Given the description of an element on the screen output the (x, y) to click on. 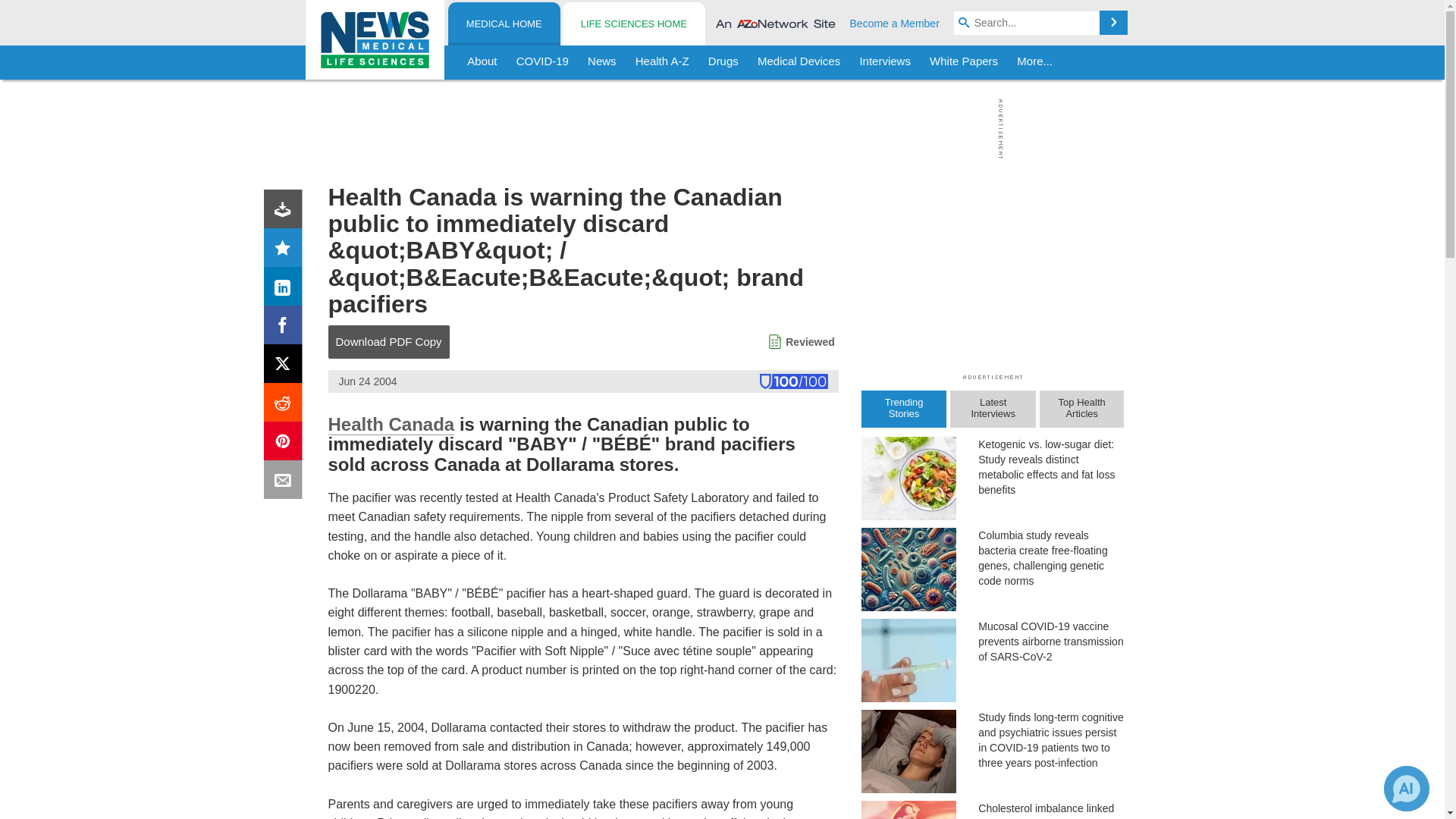
White Papers (963, 62)
X (285, 366)
Download PDF copy (285, 212)
Email (285, 483)
Become a Member (894, 22)
COVID-19 (542, 62)
MEDICAL HOME (504, 23)
LinkedIn (285, 289)
Drugs (722, 62)
